Given the description of an element on the screen output the (x, y) to click on. 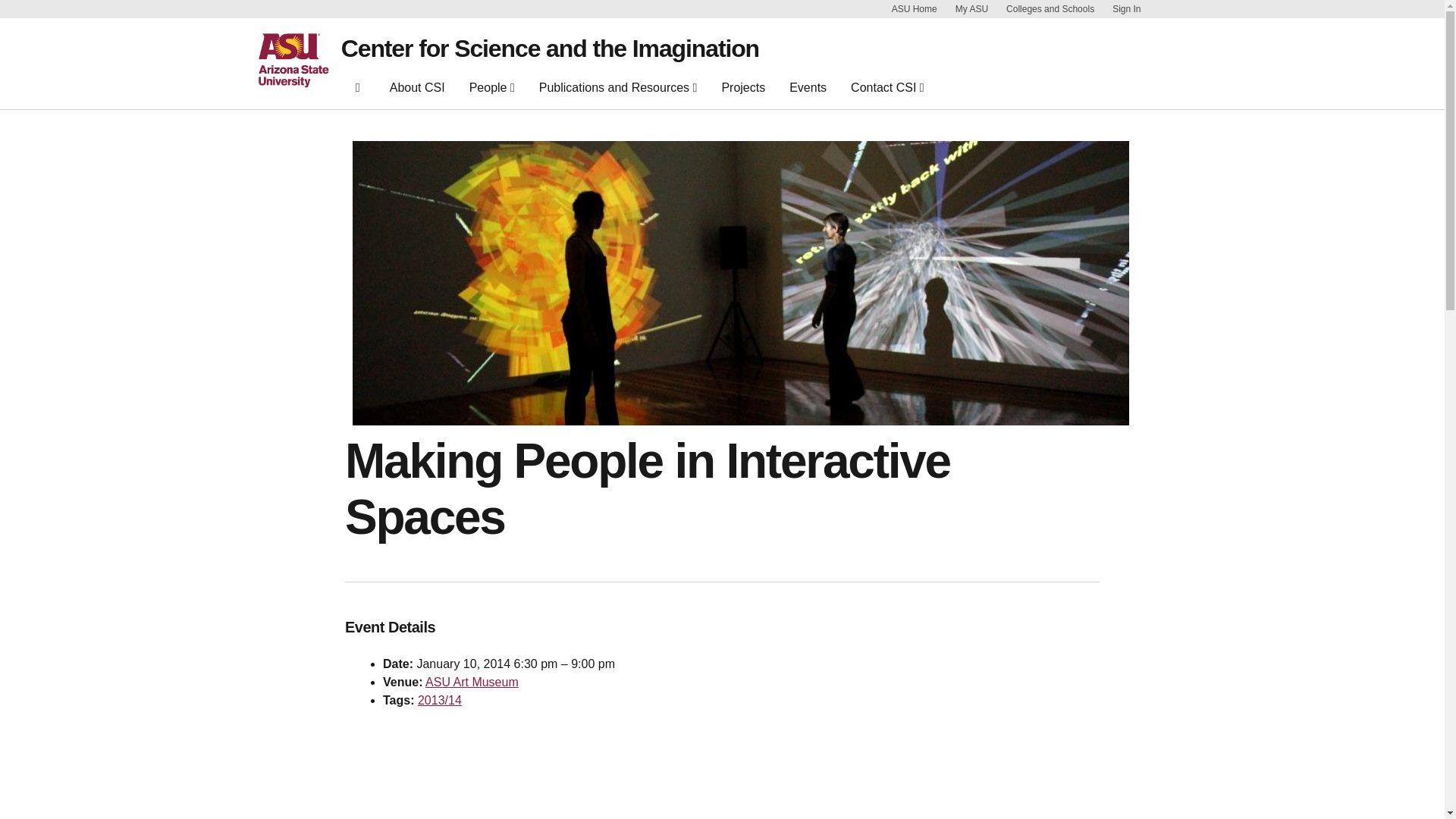
Contact CSI (887, 87)
Sign In (1126, 8)
Projects (742, 90)
Home (357, 87)
ASU Art Museum (471, 681)
Events (807, 90)
About CSI (417, 90)
Colleges and Schools (1050, 8)
Skip to Content (1164, 8)
Projects (742, 90)
